Given the description of an element on the screen output the (x, y) to click on. 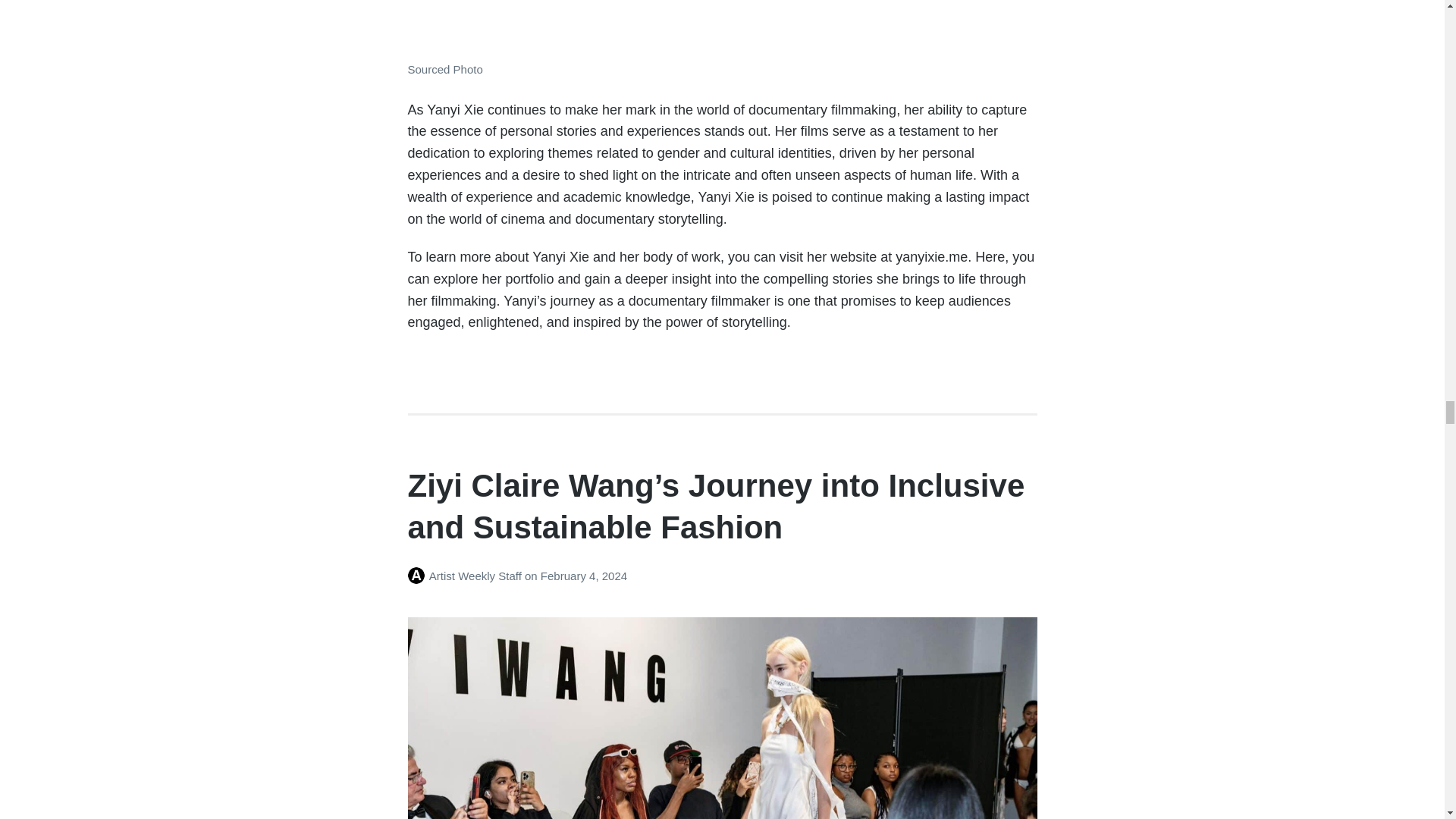
Posts by Artist Weekly Staff (418, 575)
